Given the description of an element on the screen output the (x, y) to click on. 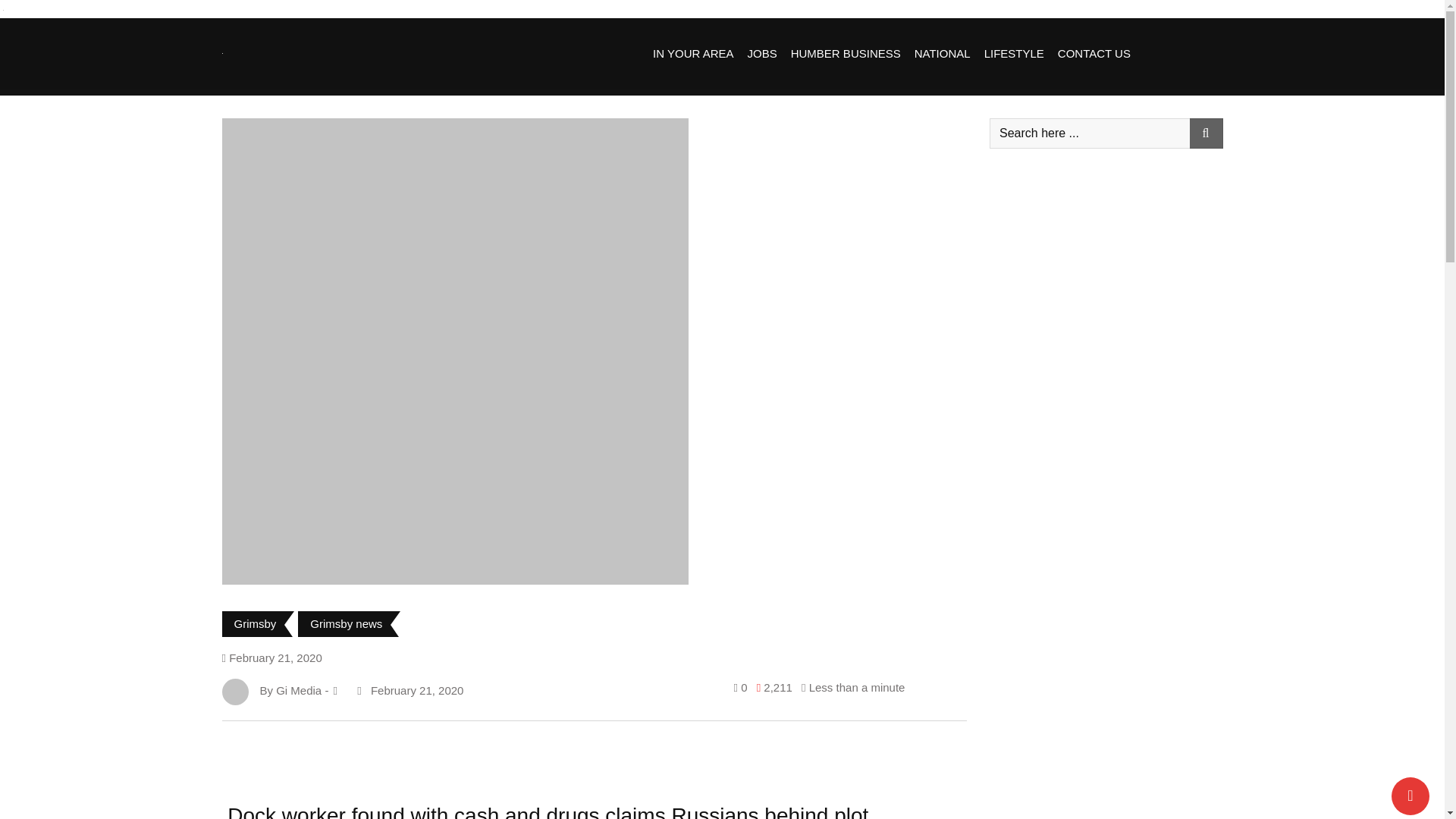
IN YOUR AREA (692, 53)
